Given the description of an element on the screen output the (x, y) to click on. 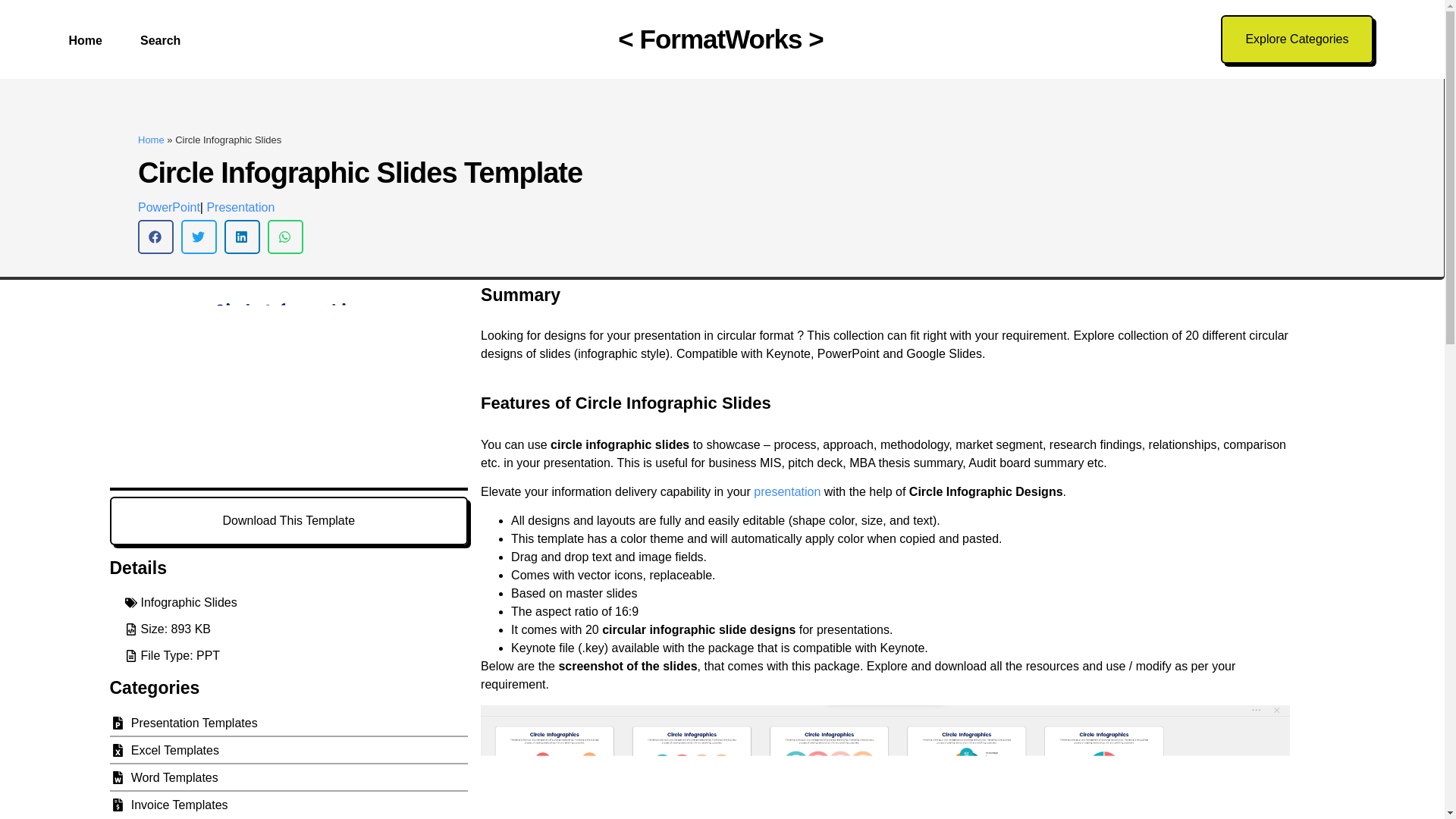
Home (84, 40)
Excel Templates (288, 751)
presentation (787, 491)
Word Templates (288, 778)
Presentation (240, 206)
Home (151, 139)
Presentation Templates (288, 723)
Explore Categories (1297, 39)
Invoice Templates (288, 805)
Download This Template (288, 520)
